Given the description of an element on the screen output the (x, y) to click on. 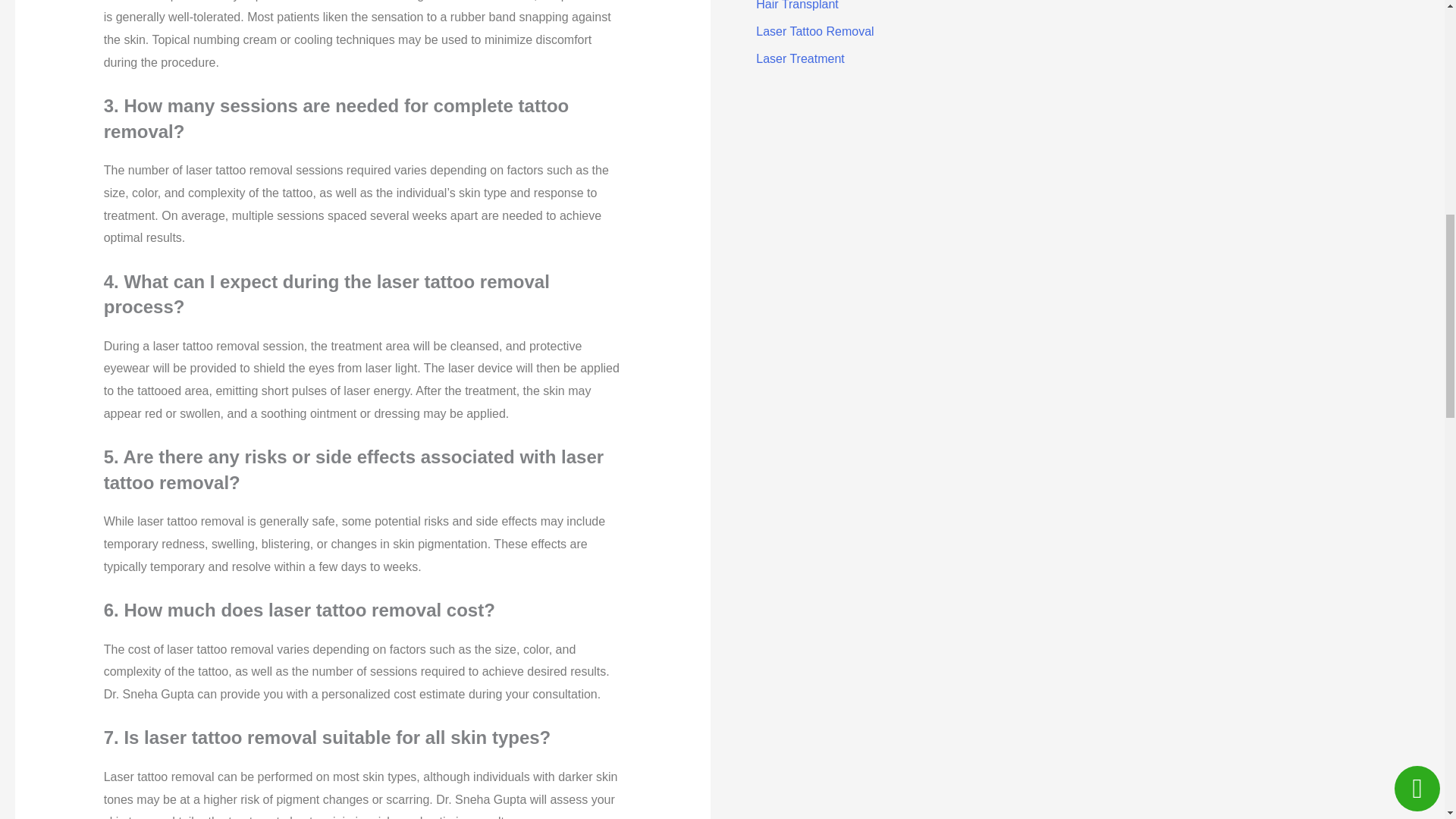
Laser Treatment (799, 58)
Hair Transplant (796, 5)
Laser Tattoo Removal (814, 31)
